Given the description of an element on the screen output the (x, y) to click on. 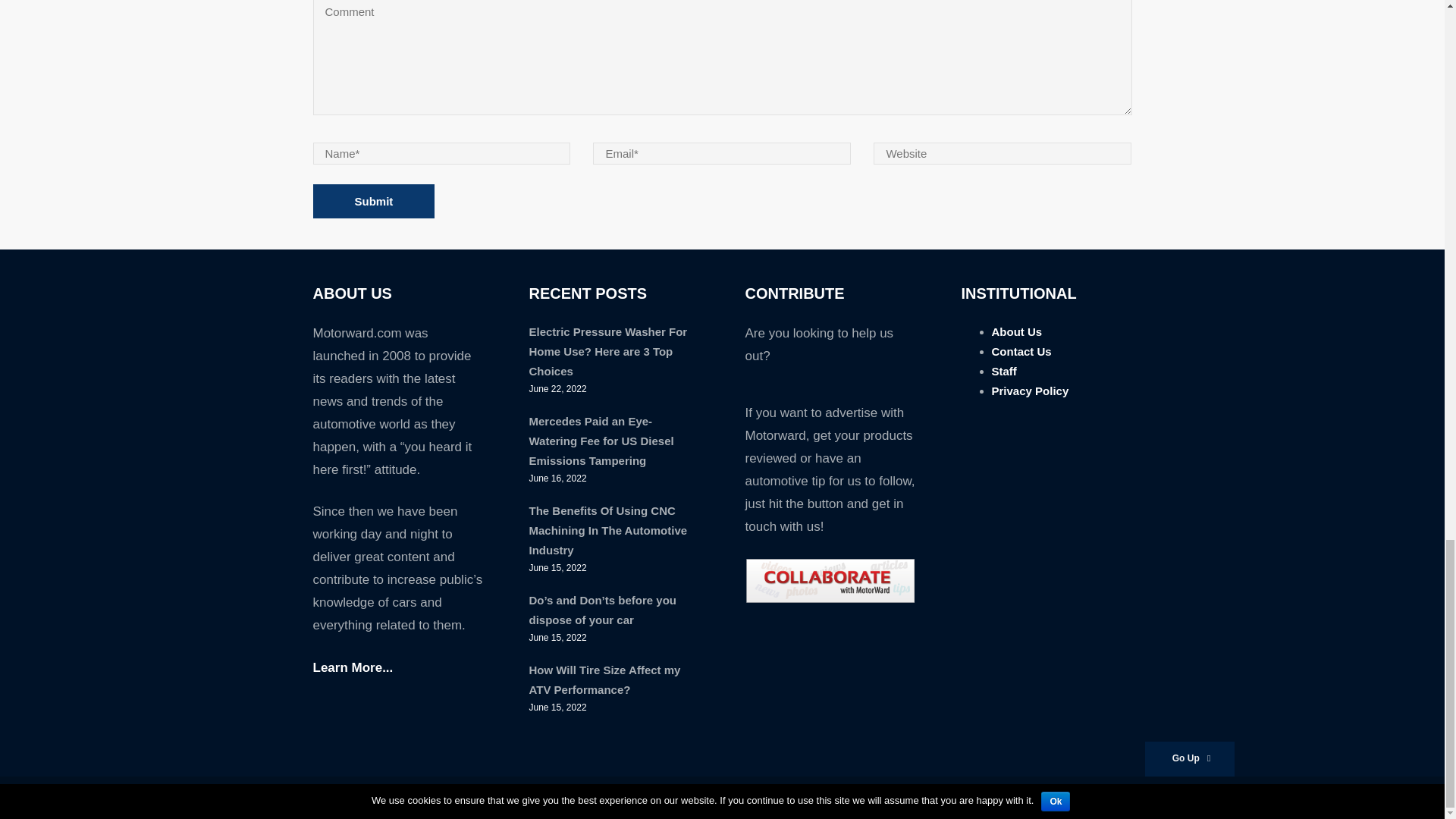
Submit (373, 201)
